Given the description of an element on the screen output the (x, y) to click on. 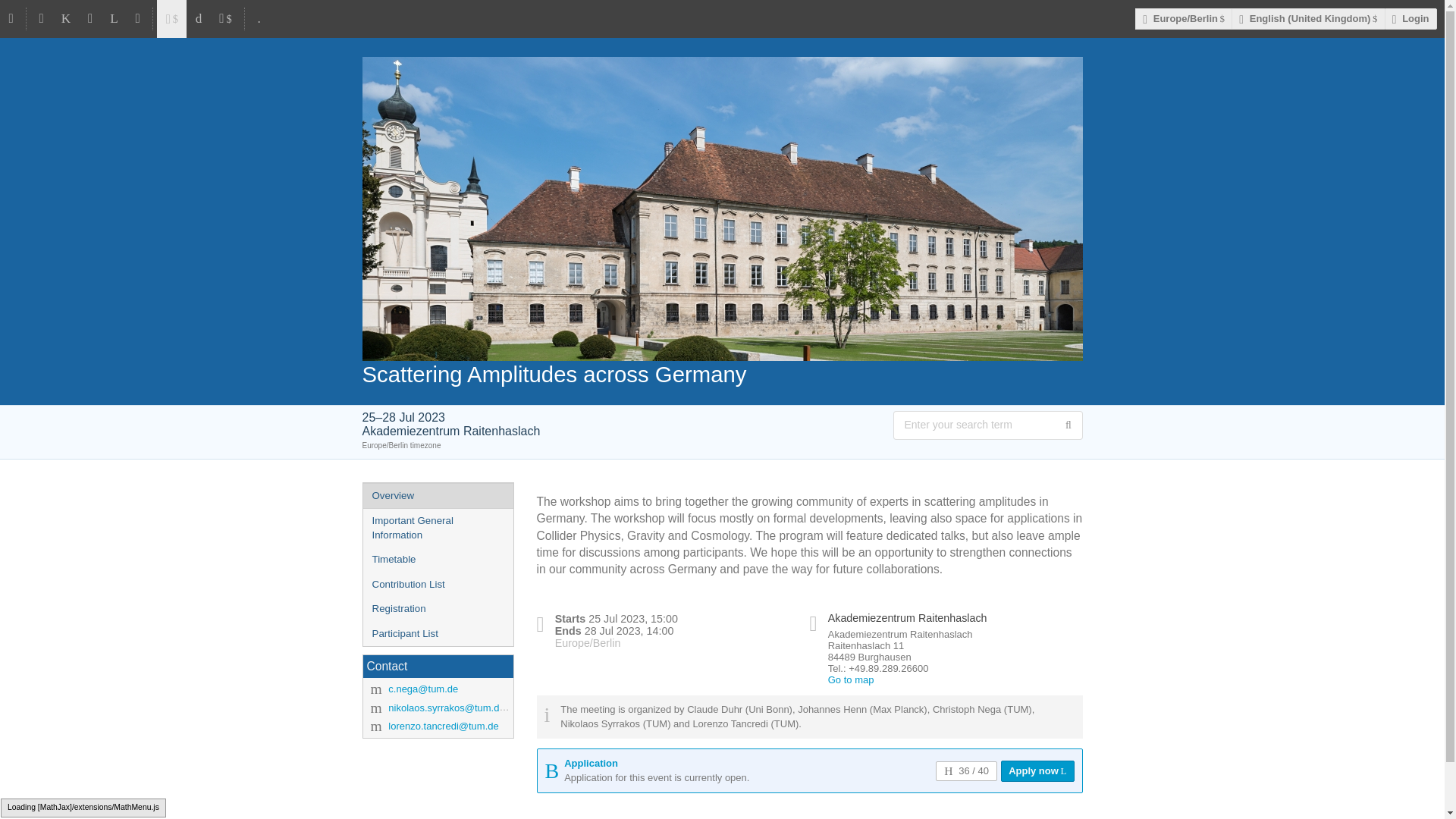
Contribution List (437, 584)
Important General Information (437, 527)
Login (1410, 19)
Registration (437, 609)
Participant List (437, 634)
Overview (437, 496)
Timetable (437, 559)
Total registrations (966, 771)
